Given the description of an element on the screen output the (x, y) to click on. 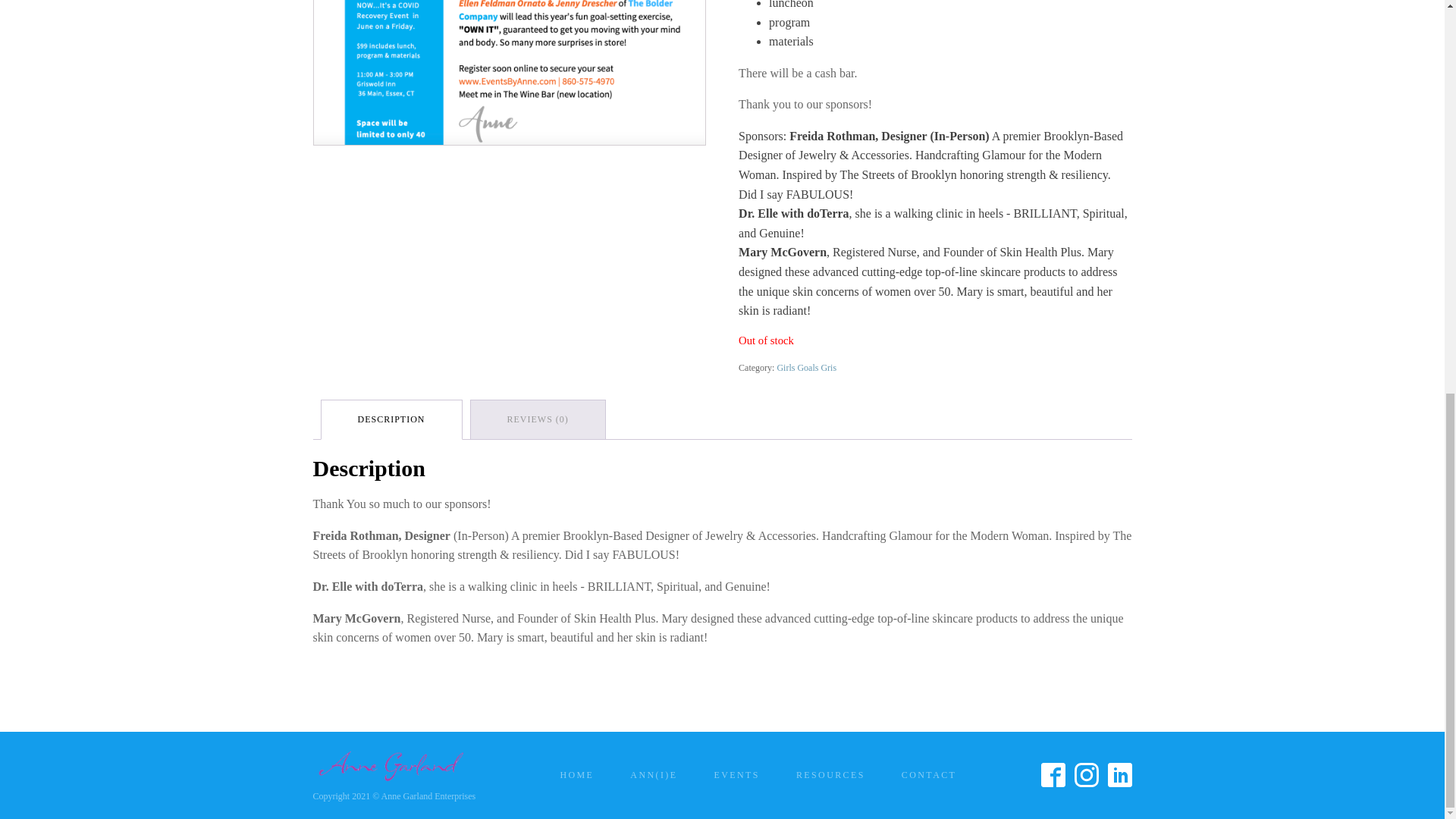
RESOURCES (830, 775)
HOME (576, 775)
EVENTS (736, 775)
GGG 2021 (509, 72)
DESCRIPTION (391, 419)
Girls Goals Gris (805, 367)
CONTACT (929, 775)
